Given the description of an element on the screen output the (x, y) to click on. 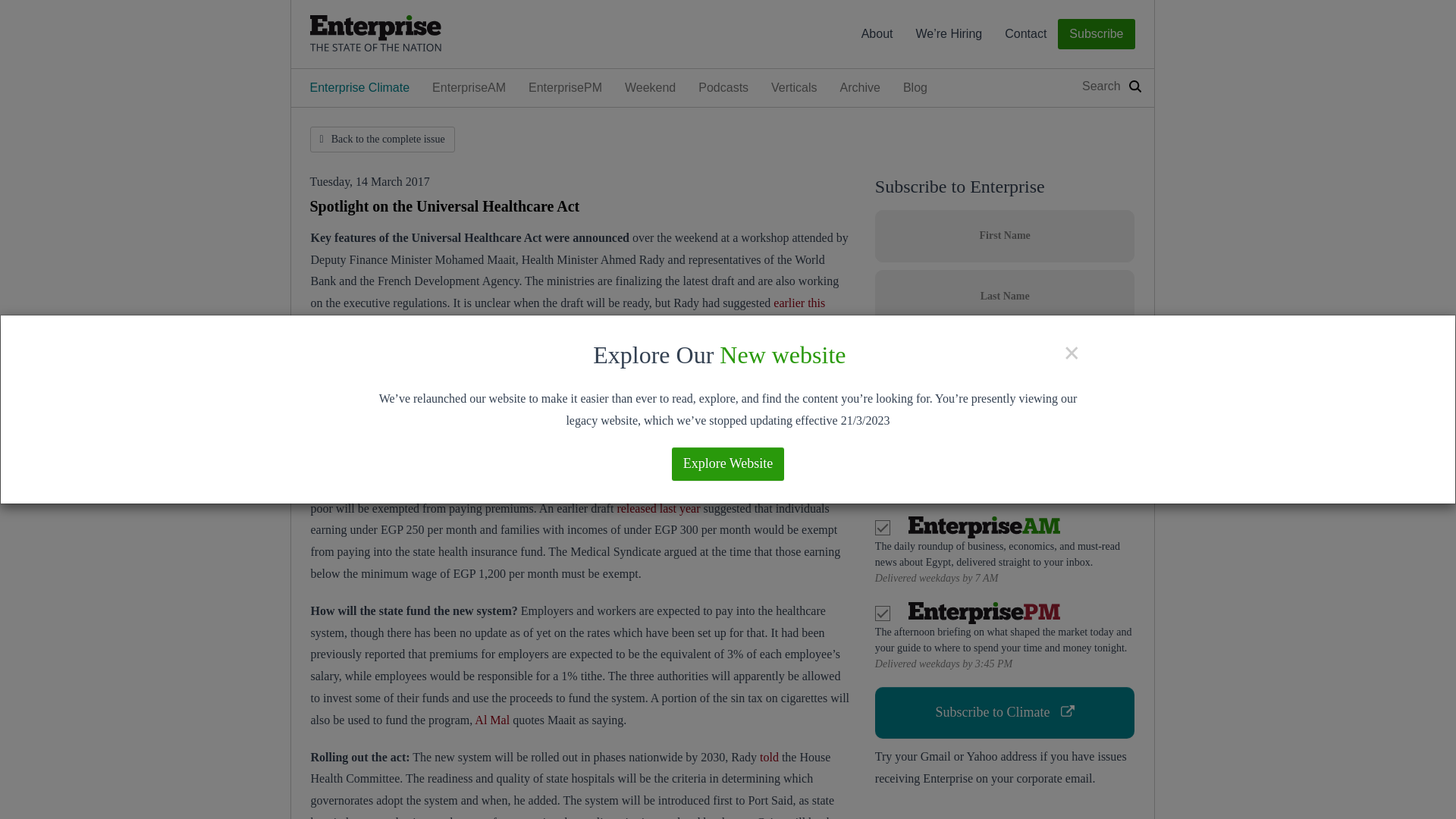
Weekend (649, 87)
About (877, 34)
EnterpriseAM (468, 87)
Subscribe (1096, 33)
Enterprise Climate (360, 87)
Podcasts (723, 87)
Contact (1025, 34)
EnterprisePM (564, 87)
